Given the description of an element on the screen output the (x, y) to click on. 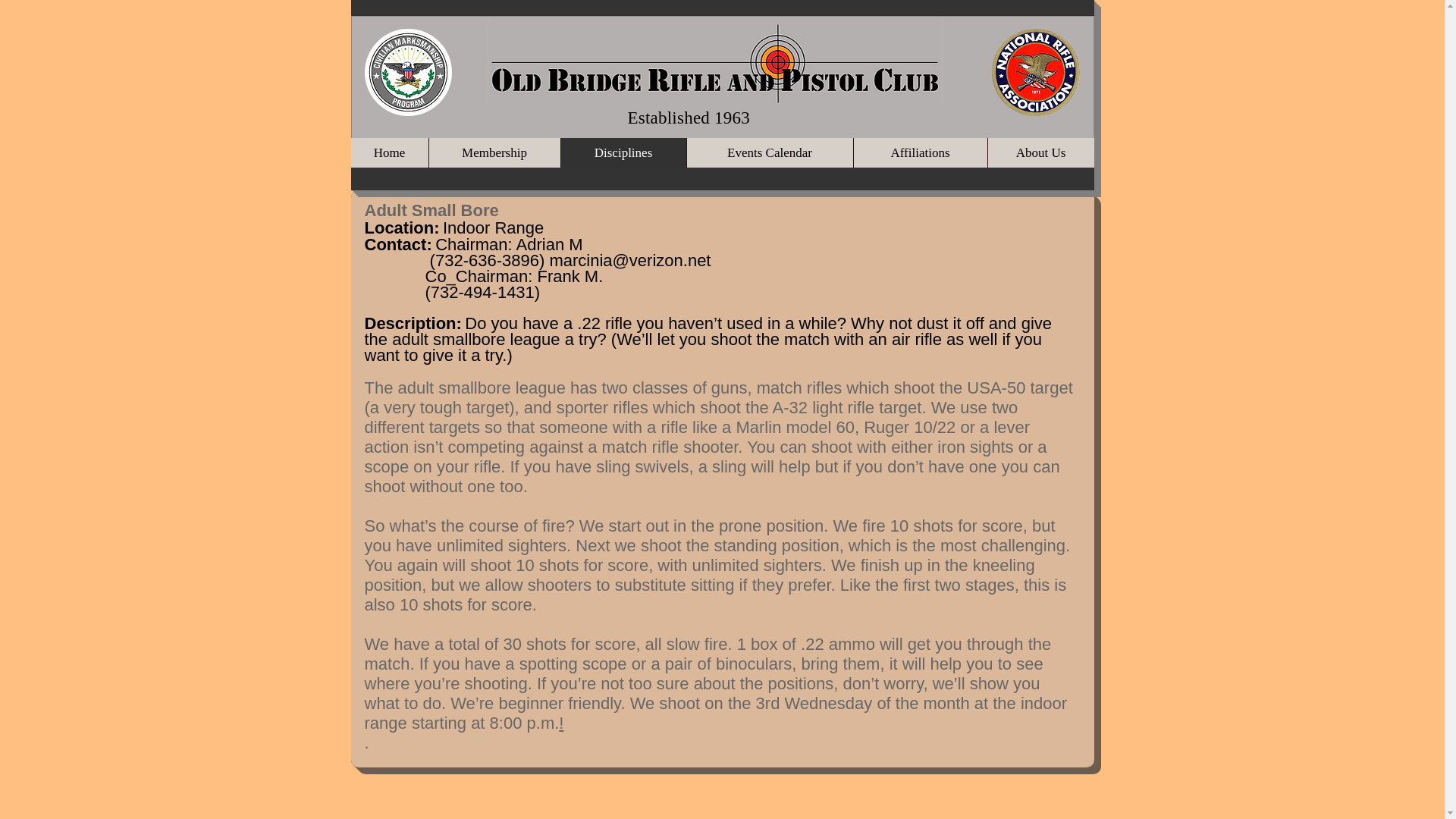
Events Calendar (768, 152)
Affiliations (919, 152)
Home (389, 152)
Membership (493, 152)
Disciplines (622, 152)
About Us (1040, 152)
